Given the description of an element on the screen output the (x, y) to click on. 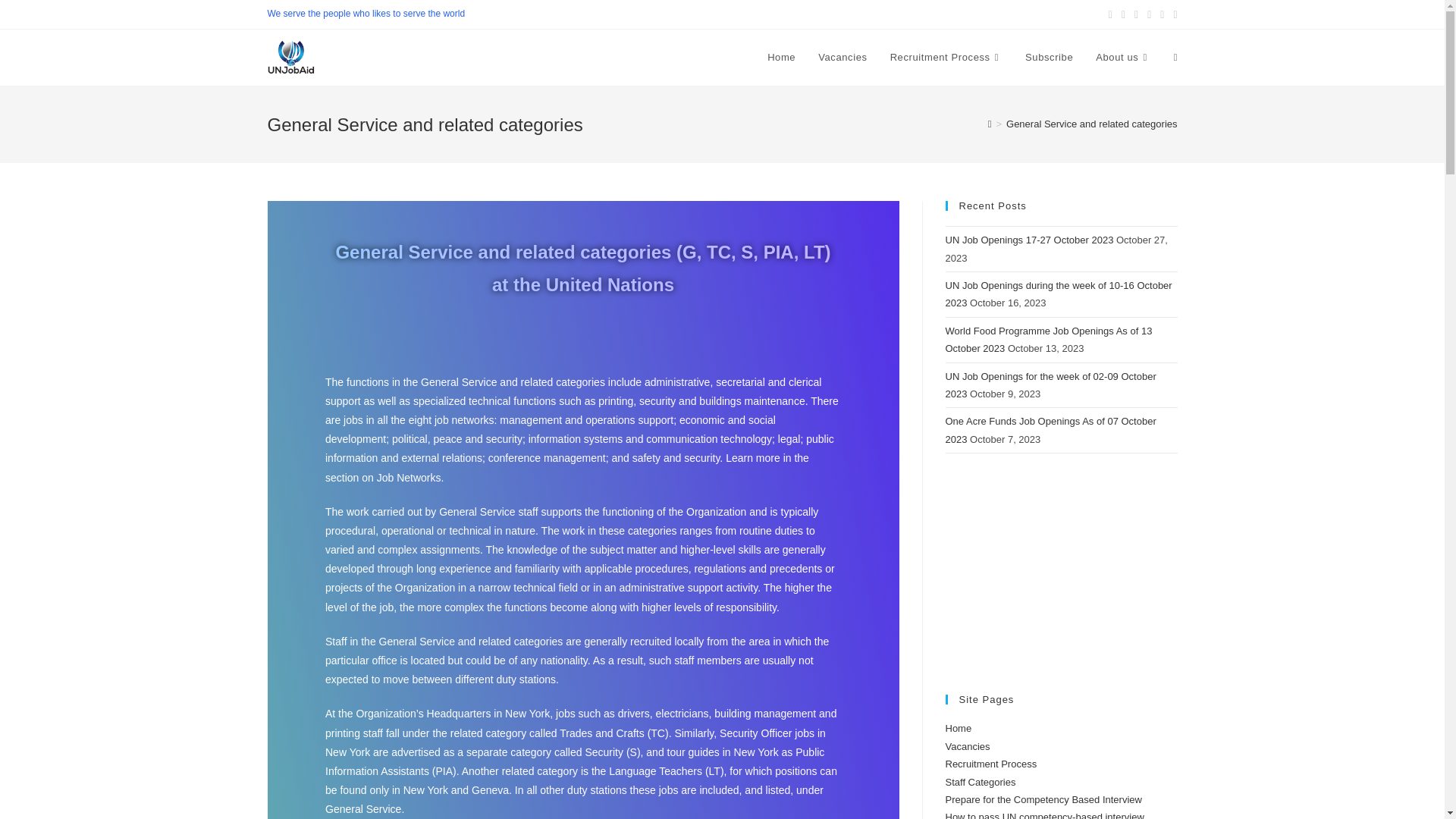
Vacancies (841, 57)
About us (1122, 57)
Recruitment Process (946, 57)
Subscribe (1048, 57)
Please fill in this field. (659, 558)
Home (780, 57)
